Given the description of an element on the screen output the (x, y) to click on. 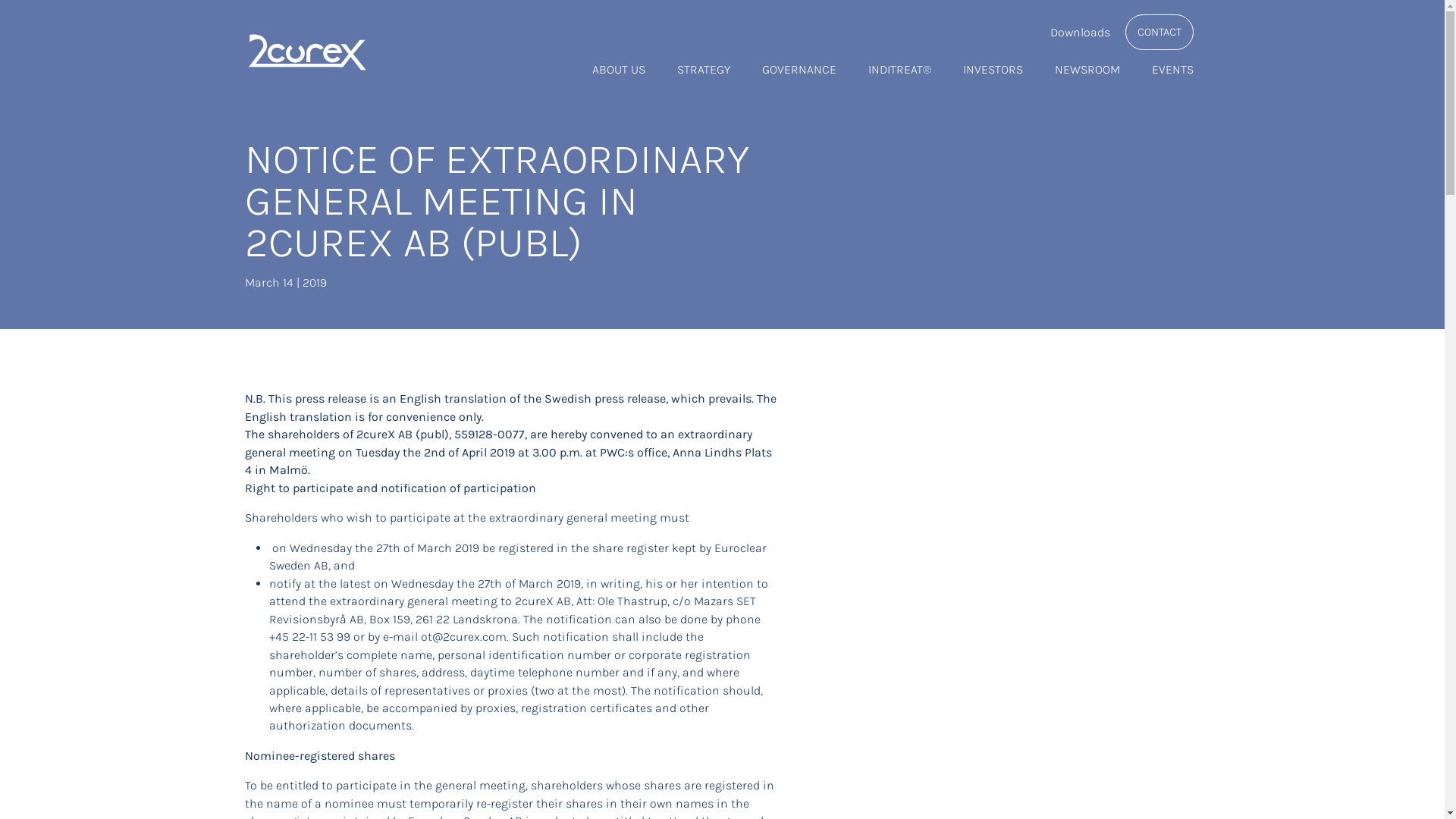
INVESTORS Element type: text (992, 69)
CONTACT Element type: text (1159, 32)
EVENTS Element type: text (1172, 69)
STRATEGY Element type: text (703, 69)
Downloads Element type: text (1080, 31)
NEWSROOM Element type: text (1087, 69)
GOVERNANCE Element type: text (799, 69)
ABOUT US Element type: text (618, 69)
